Given the description of an element on the screen output the (x, y) to click on. 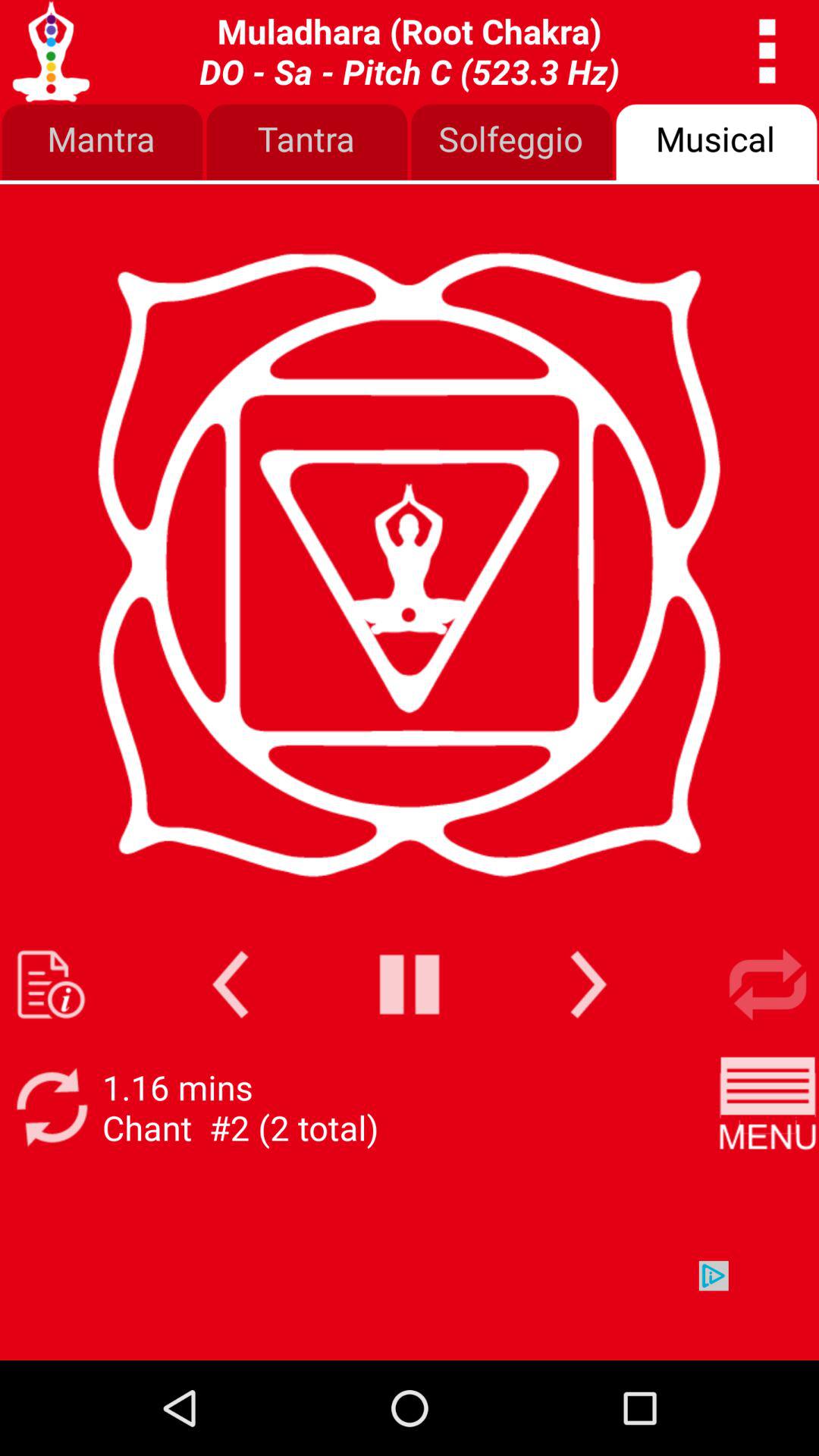
click tantra button (306, 143)
